Given the description of an element on the screen output the (x, y) to click on. 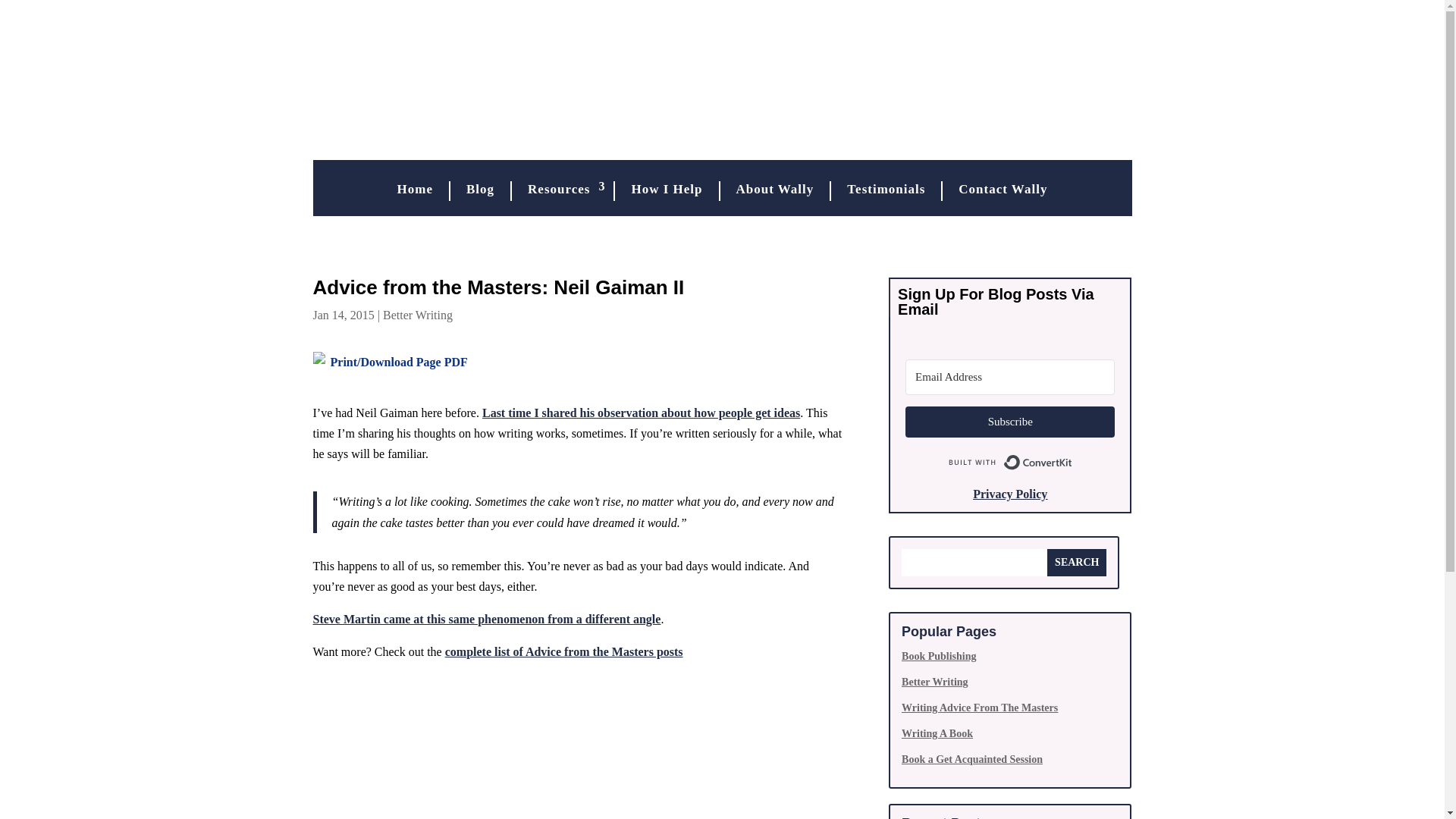
How I Help (666, 190)
About Wally (774, 190)
Contact Wally (1002, 190)
Search (1076, 562)
Search (1076, 562)
Search (1076, 562)
Better Writing (934, 681)
Better Writing (417, 314)
Home (415, 190)
Built with ConvertKit (1010, 461)
Testimonials (886, 190)
Writing A Book (936, 733)
Blog (480, 190)
